Given the description of an element on the screen output the (x, y) to click on. 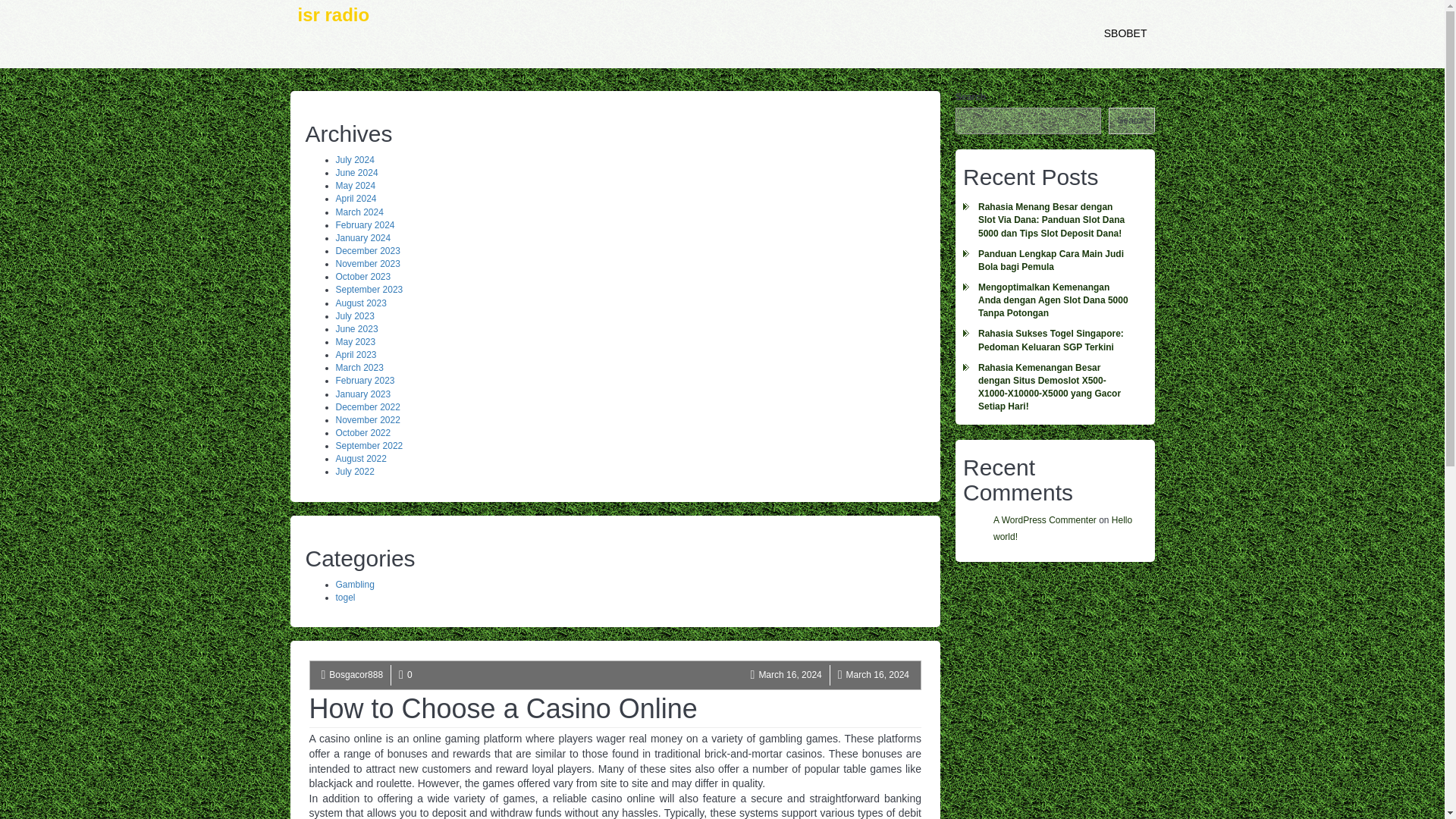
July 2024 (354, 159)
September 2023 (368, 289)
June 2023 (355, 328)
April 2024 (354, 198)
October 2023 (362, 276)
August 2023 (359, 303)
July 2022 (354, 471)
Search (1131, 120)
May 2023 (354, 341)
May 2024 (354, 185)
Rahasia Sukses Togel Singapore: Pedoman Keluaran SGP Terkini (1054, 340)
June 2024 (355, 172)
November 2023 (366, 263)
